Given the description of an element on the screen output the (x, y) to click on. 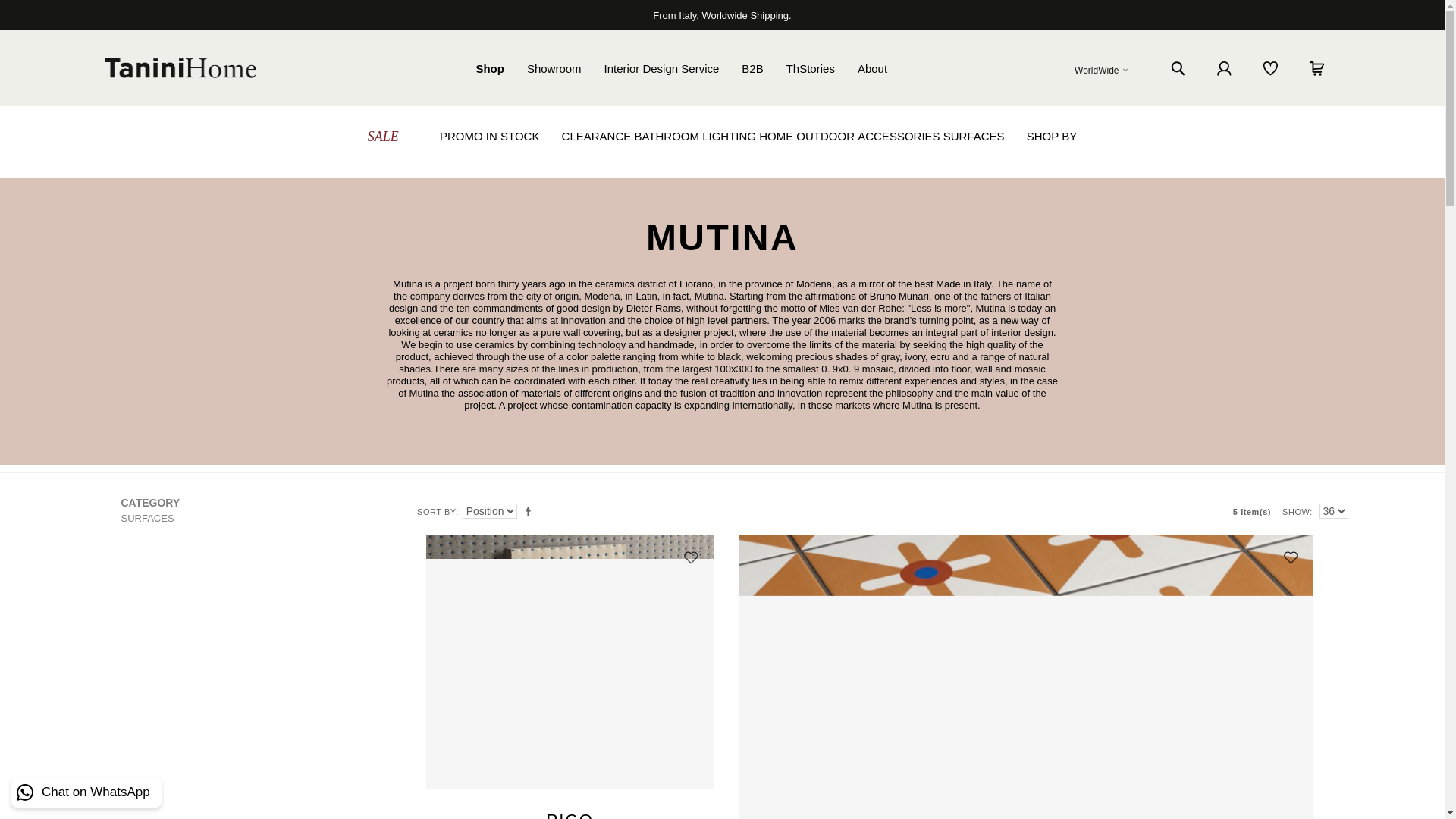
B2B (751, 68)
About (871, 68)
Sort By (489, 510)
From Italy, Worldwide Shipping. (721, 14)
Interior Design Service (661, 68)
ThStories (810, 68)
CLEARANCE (596, 136)
SALE (383, 136)
PROMO IN STOCK (488, 136)
Shop (489, 68)
Set Descending Direction (530, 510)
Showroom (553, 68)
BATHROOM (665, 136)
Results per page (1333, 510)
Pico (569, 661)
